Given the description of an element on the screen output the (x, y) to click on. 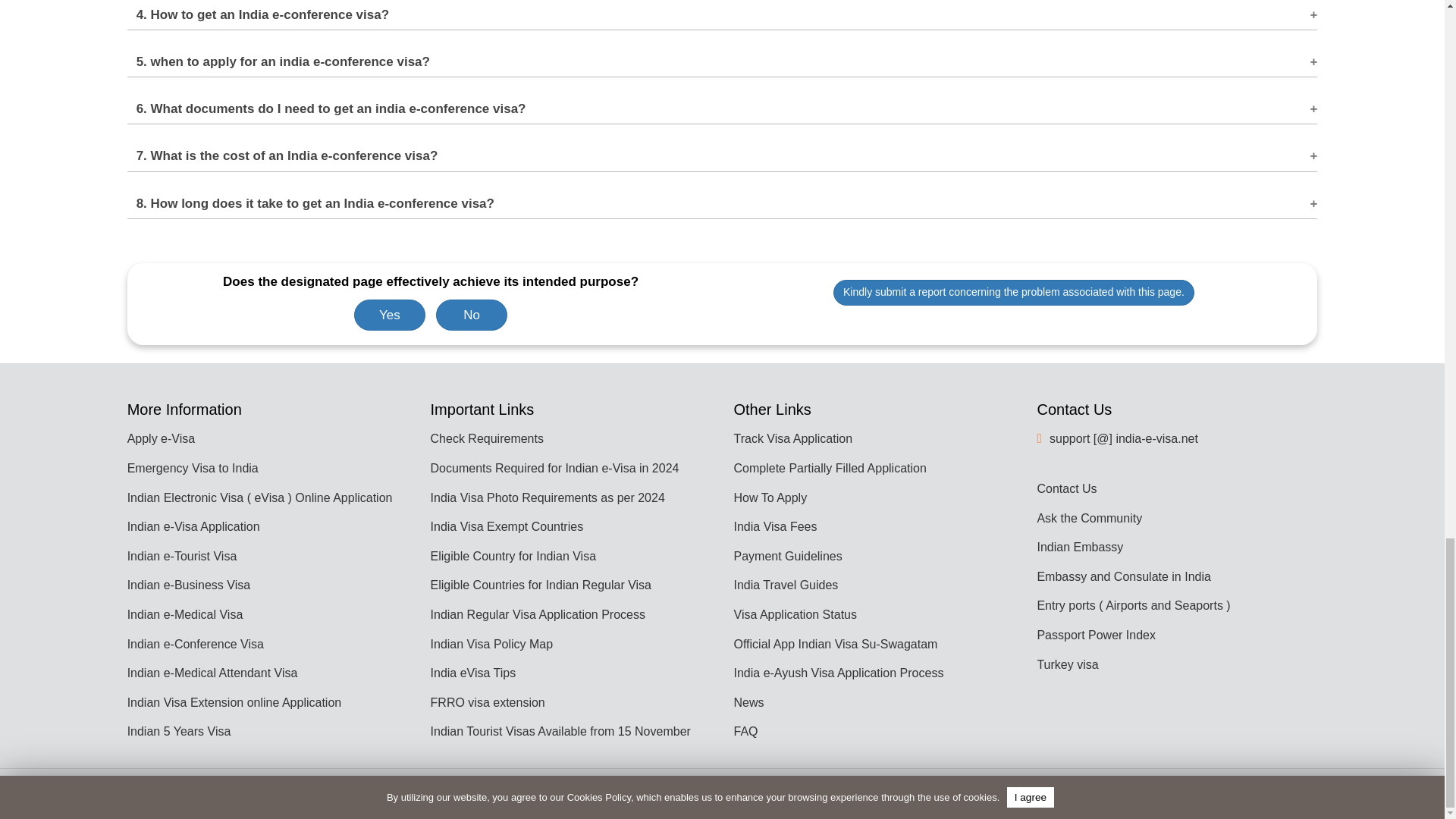
7. What is the cost of an India e-conference visa? (722, 151)
Indian e-Tourist Visa (182, 555)
Emergency Visa to India (193, 468)
No (470, 314)
4. How to get an India e-conference visa? (722, 15)
Yes (389, 314)
Emergency Visa to India (193, 468)
Apply e-Visa (161, 438)
Indian e-Visa Application (194, 526)
Indian e-Tourist Visa (182, 555)
